Given the description of an element on the screen output the (x, y) to click on. 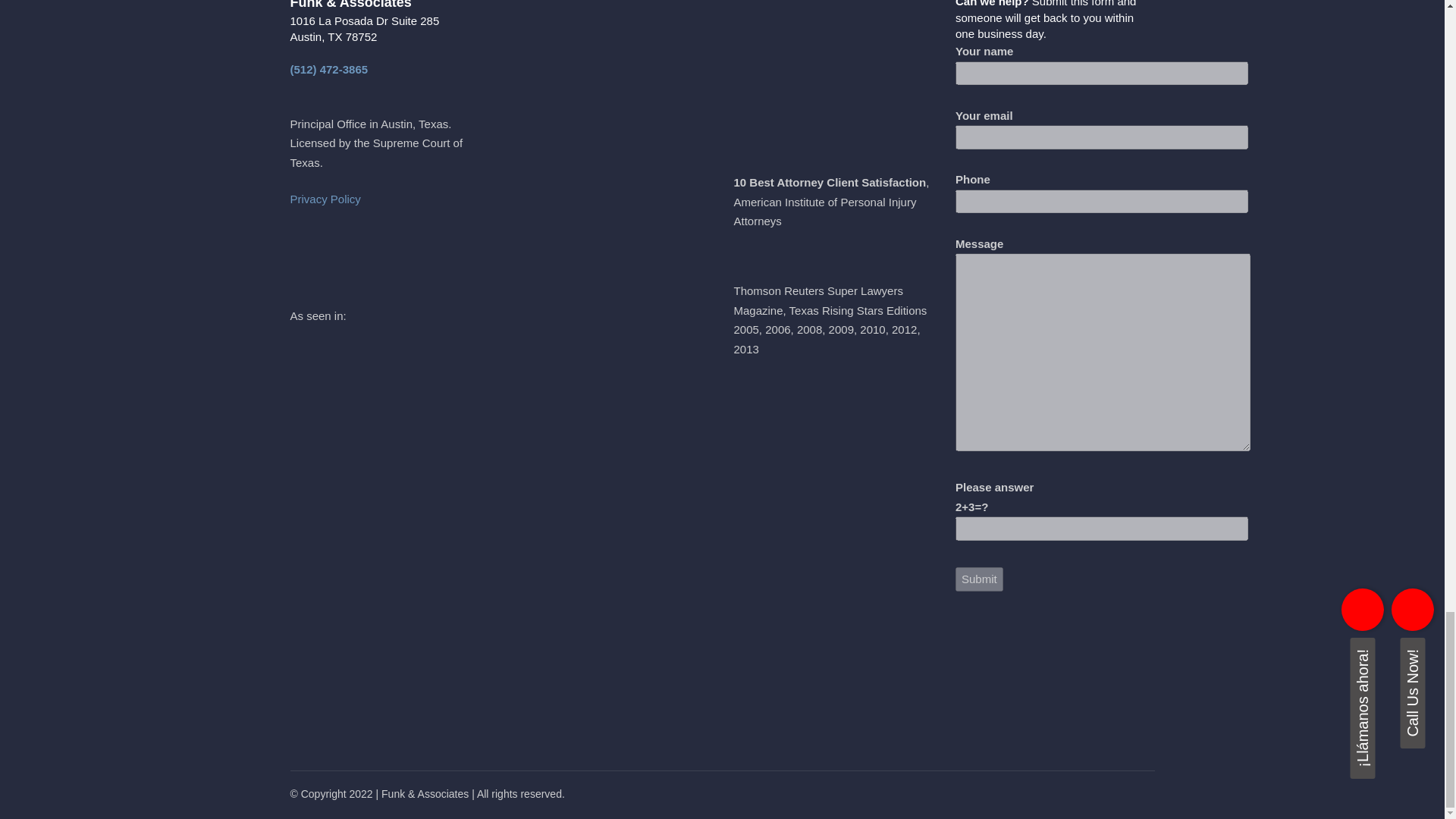
Submit (979, 579)
